Given the description of an element on the screen output the (x, y) to click on. 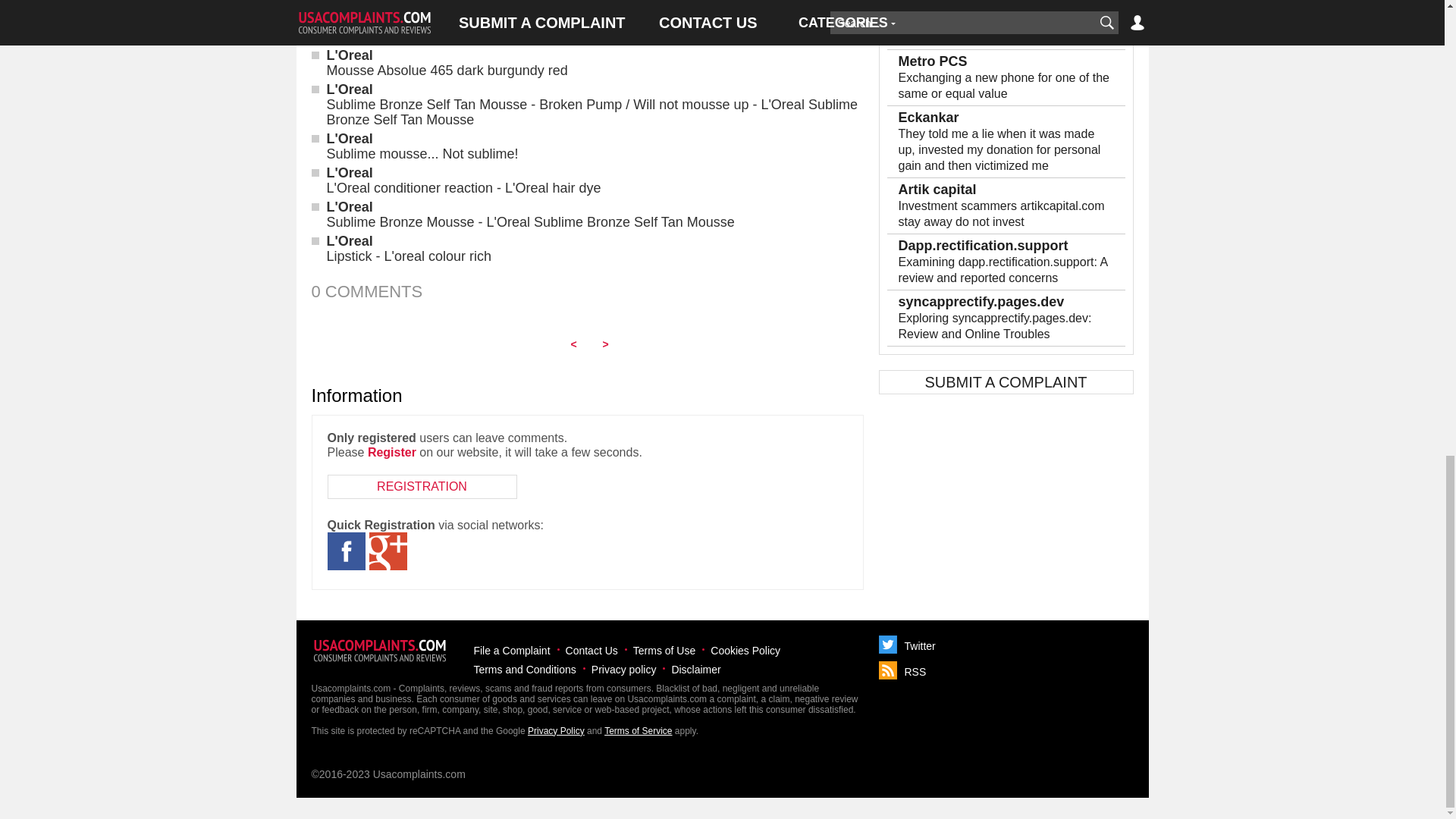
Login with Google (387, 551)
Login with Facebook (346, 551)
